Given the description of an element on the screen output the (x, y) to click on. 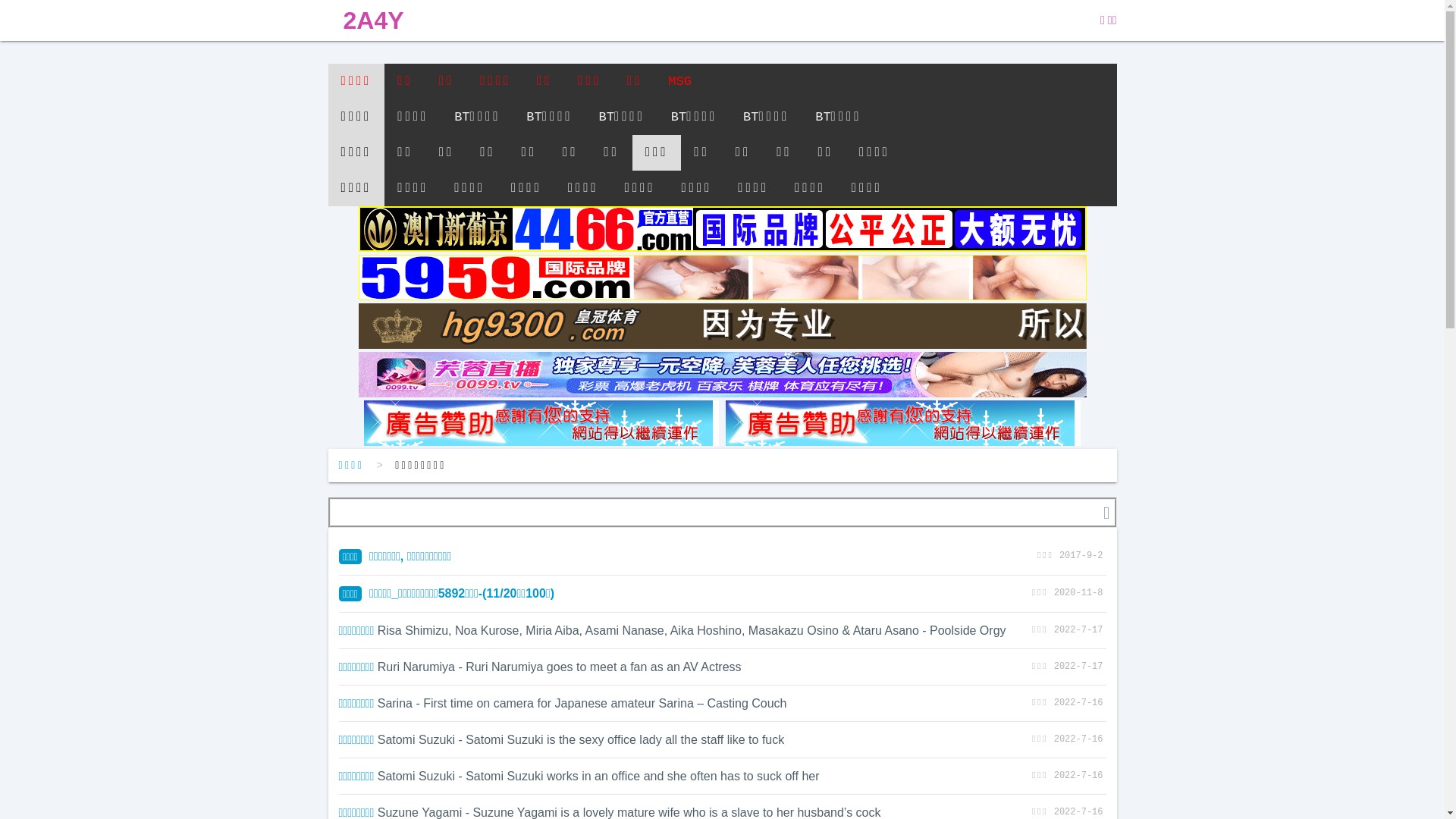
MSG Element type: text (679, 81)
2A4Y Element type: text (372, 20)
